Given the description of an element on the screen output the (x, y) to click on. 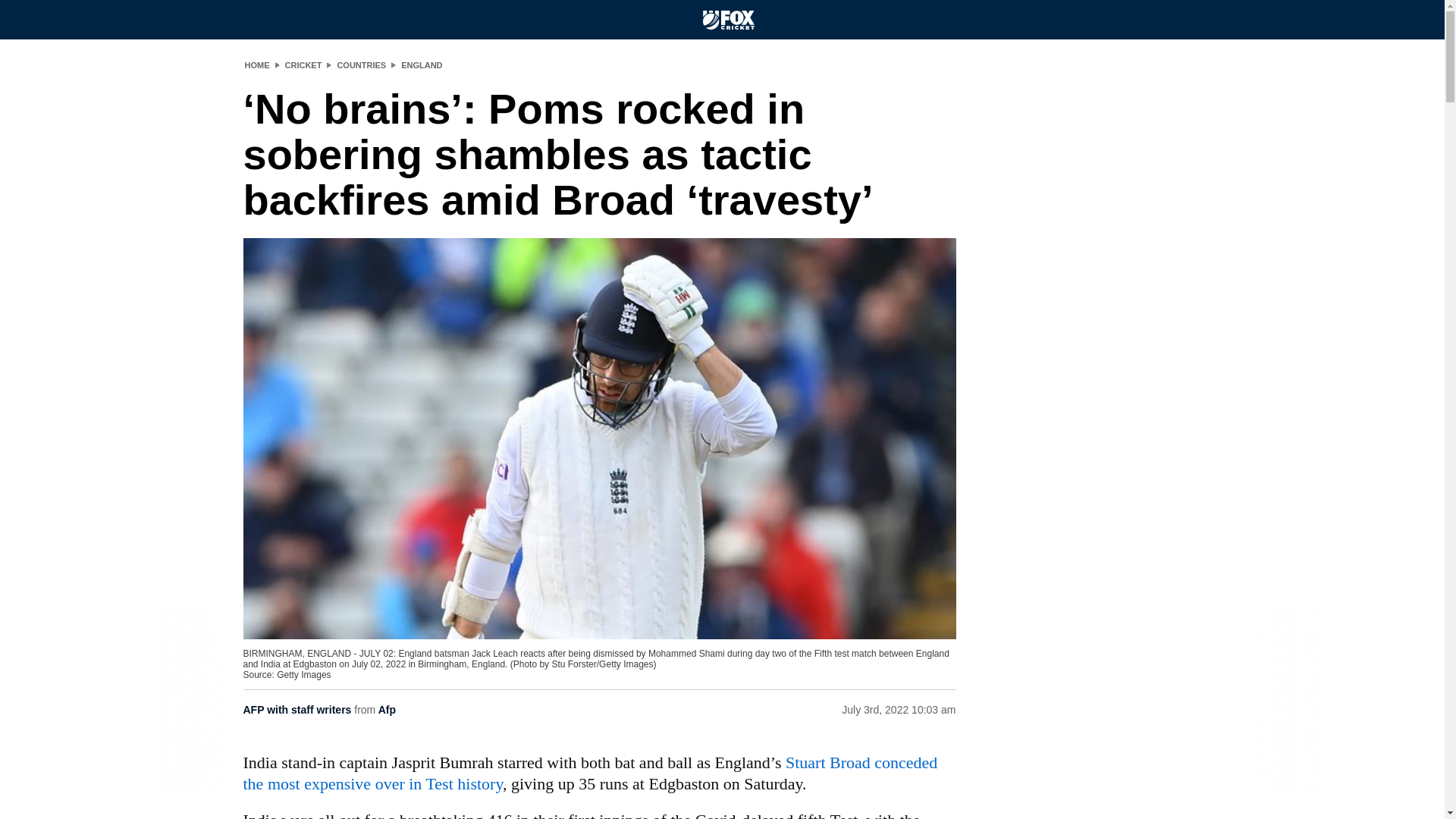
HOME (256, 64)
ENGLAND (421, 64)
COUNTRIES (360, 64)
CRICKET (303, 64)
3rd party ad content (1087, 628)
